Given the description of an element on the screen output the (x, y) to click on. 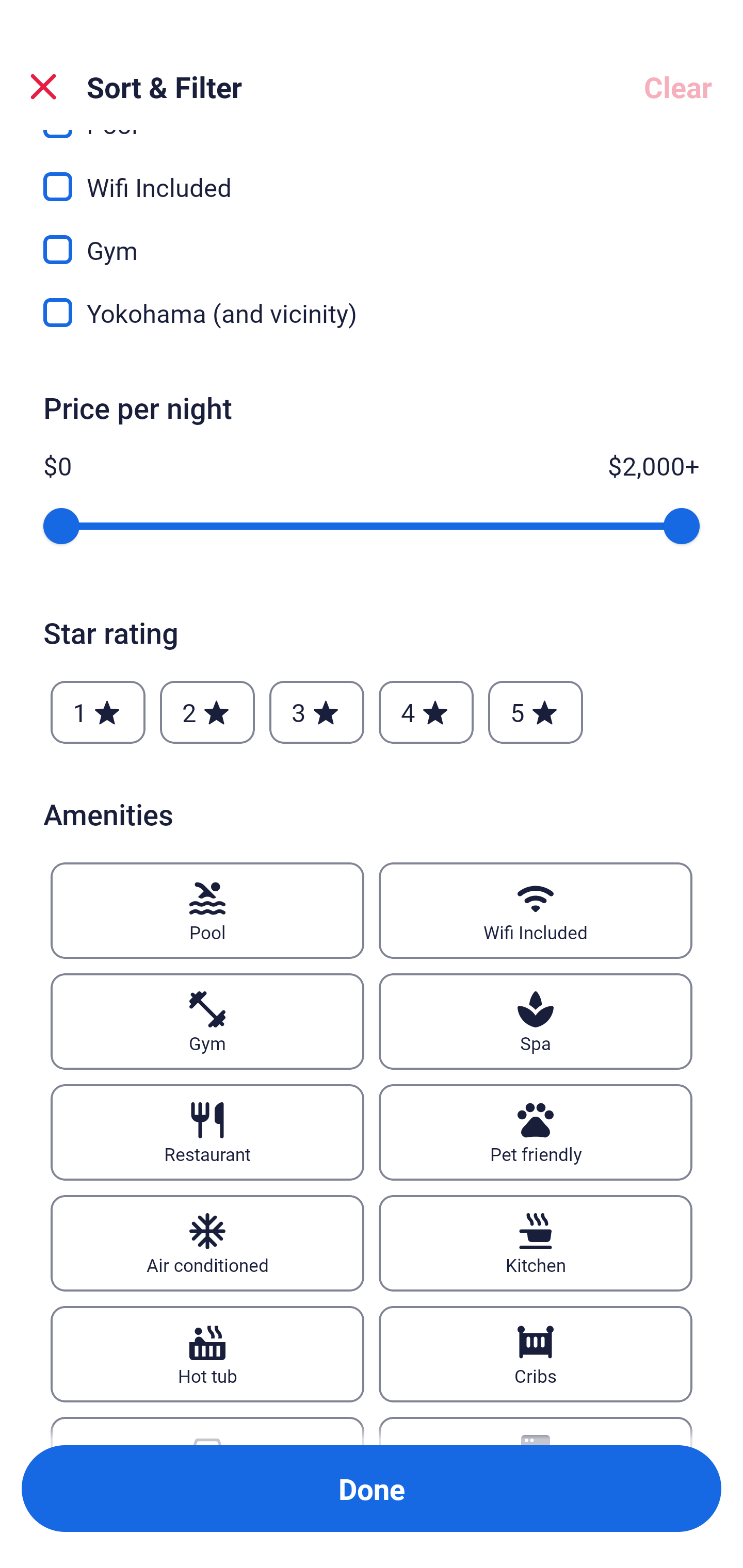
Close Sort and Filter (43, 86)
Clear (677, 86)
Wifi Included, Wifi Included (371, 175)
Gym, Gym (371, 237)
Yokohama (and vicinity), Yokohama (and vicinity) (371, 312)
1 (97, 712)
2 (206, 712)
3 (316, 712)
4 (426, 712)
5 (535, 712)
Pool (207, 910)
Wifi Included (535, 910)
Gym (207, 1021)
Spa (535, 1021)
Restaurant (207, 1131)
Pet friendly (535, 1131)
Air conditioned (207, 1243)
Kitchen (535, 1243)
Hot tub (207, 1353)
Cribs (535, 1353)
Apply and close Sort and Filter Done (371, 1488)
